Given the description of an element on the screen output the (x, y) to click on. 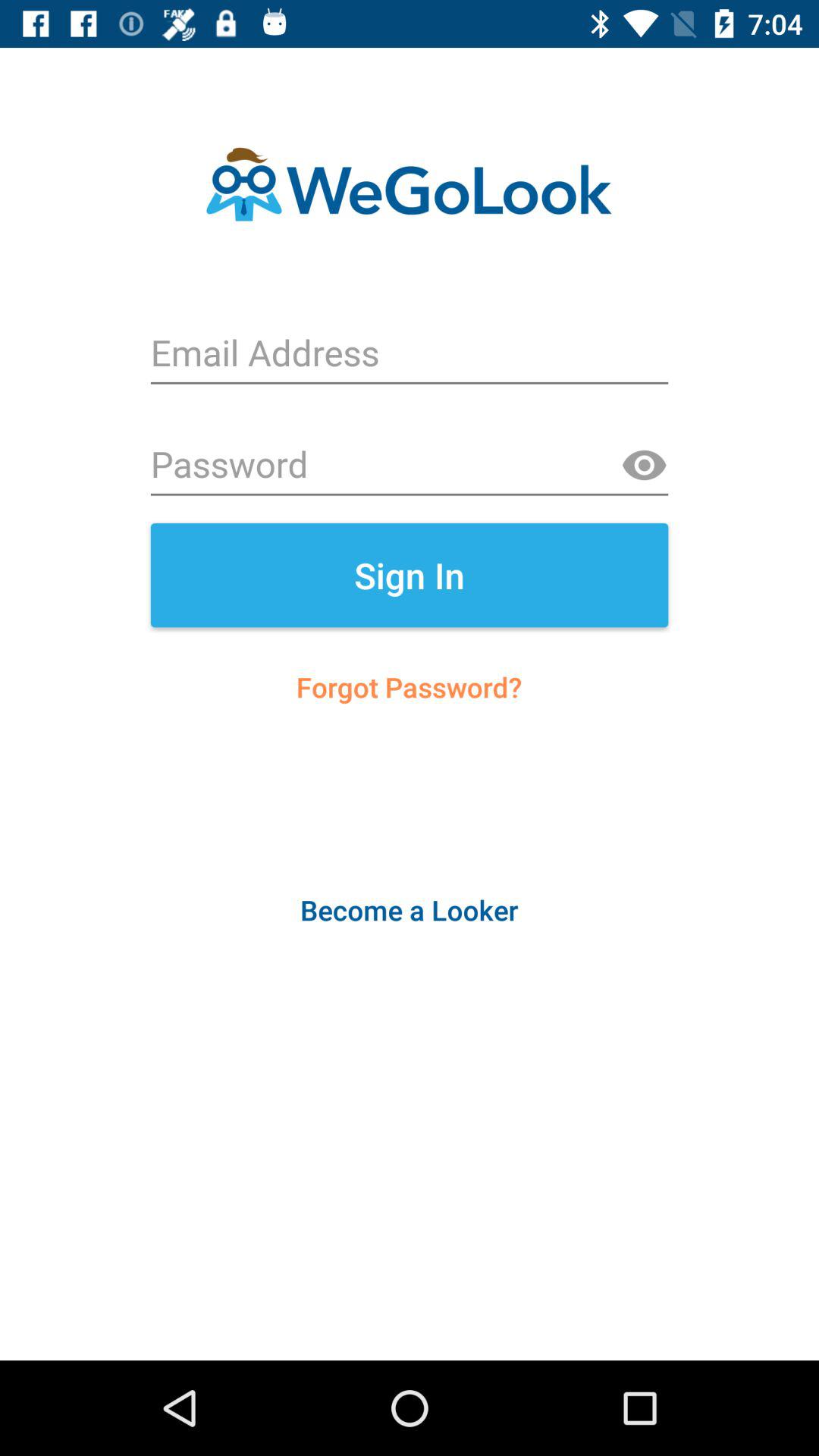
choose forgot password? icon (409, 686)
